Given the description of an element on the screen output the (x, y) to click on. 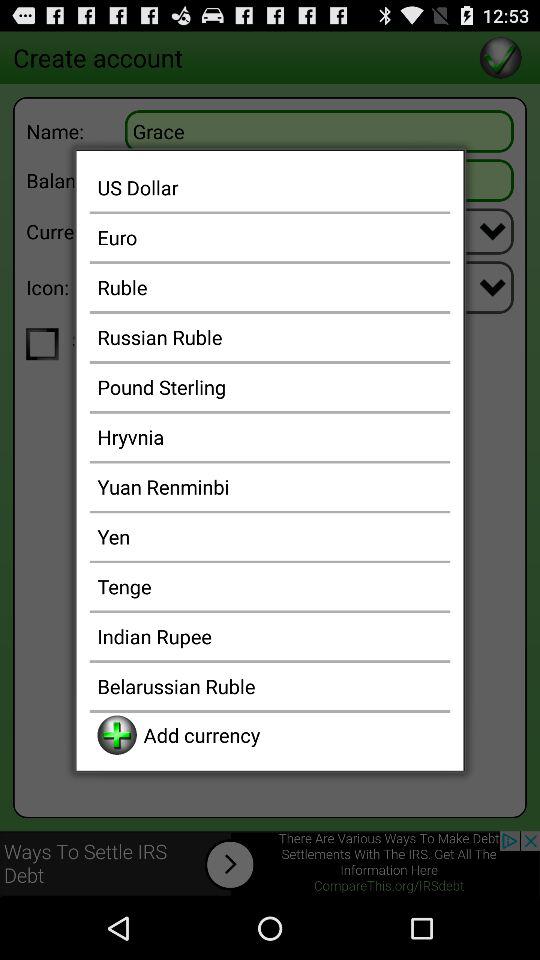
click pound sterling (269, 386)
